Given the description of an element on the screen output the (x, y) to click on. 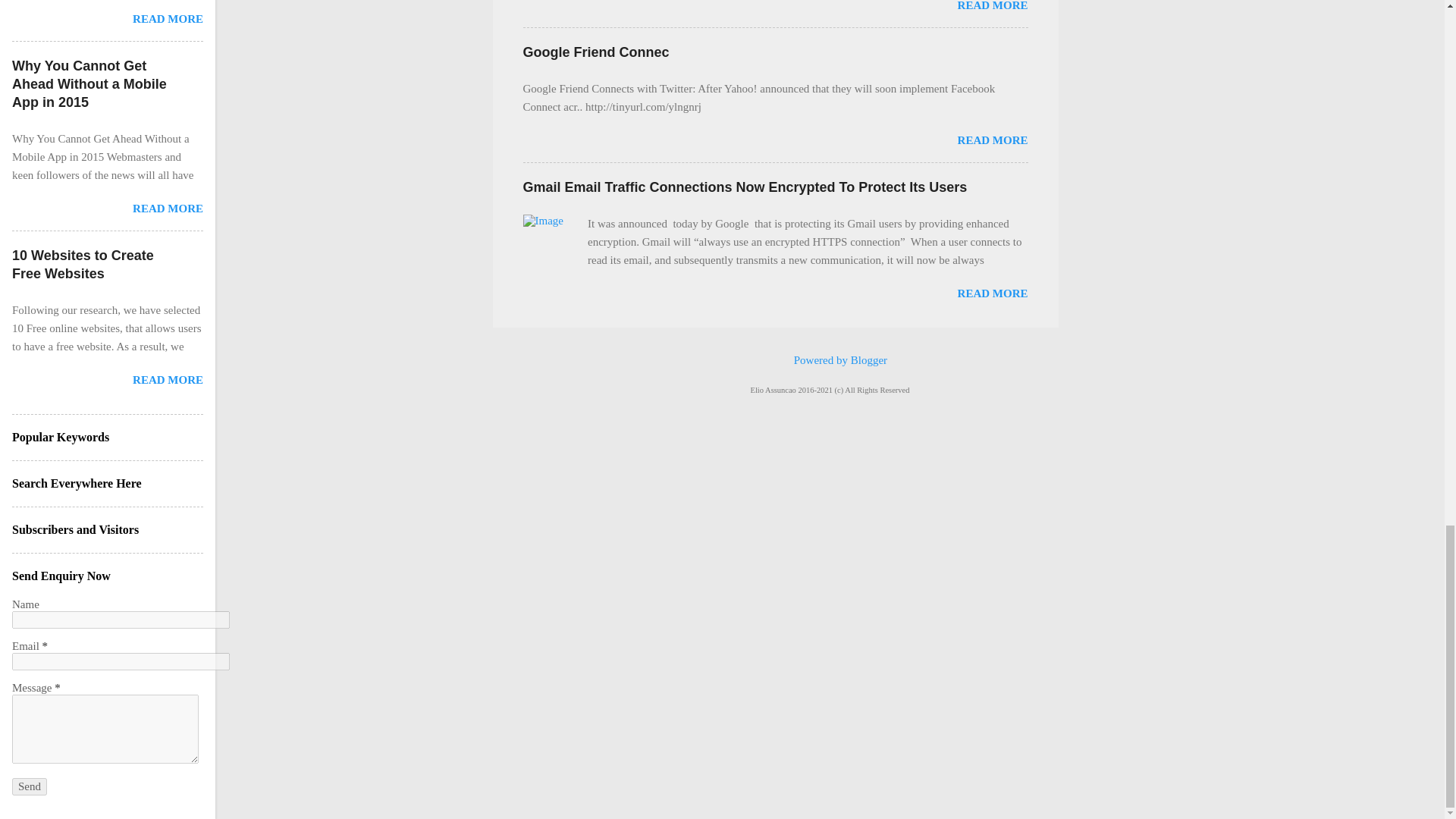
Powered by Blogger (829, 359)
Google Friend Connec (595, 52)
Email Spam Contact Management Tools (992, 5)
Send (28, 786)
Google Friend Connec (992, 140)
READ MORE (992, 5)
READ MORE (992, 140)
READ MORE (992, 293)
